Given the description of an element on the screen output the (x, y) to click on. 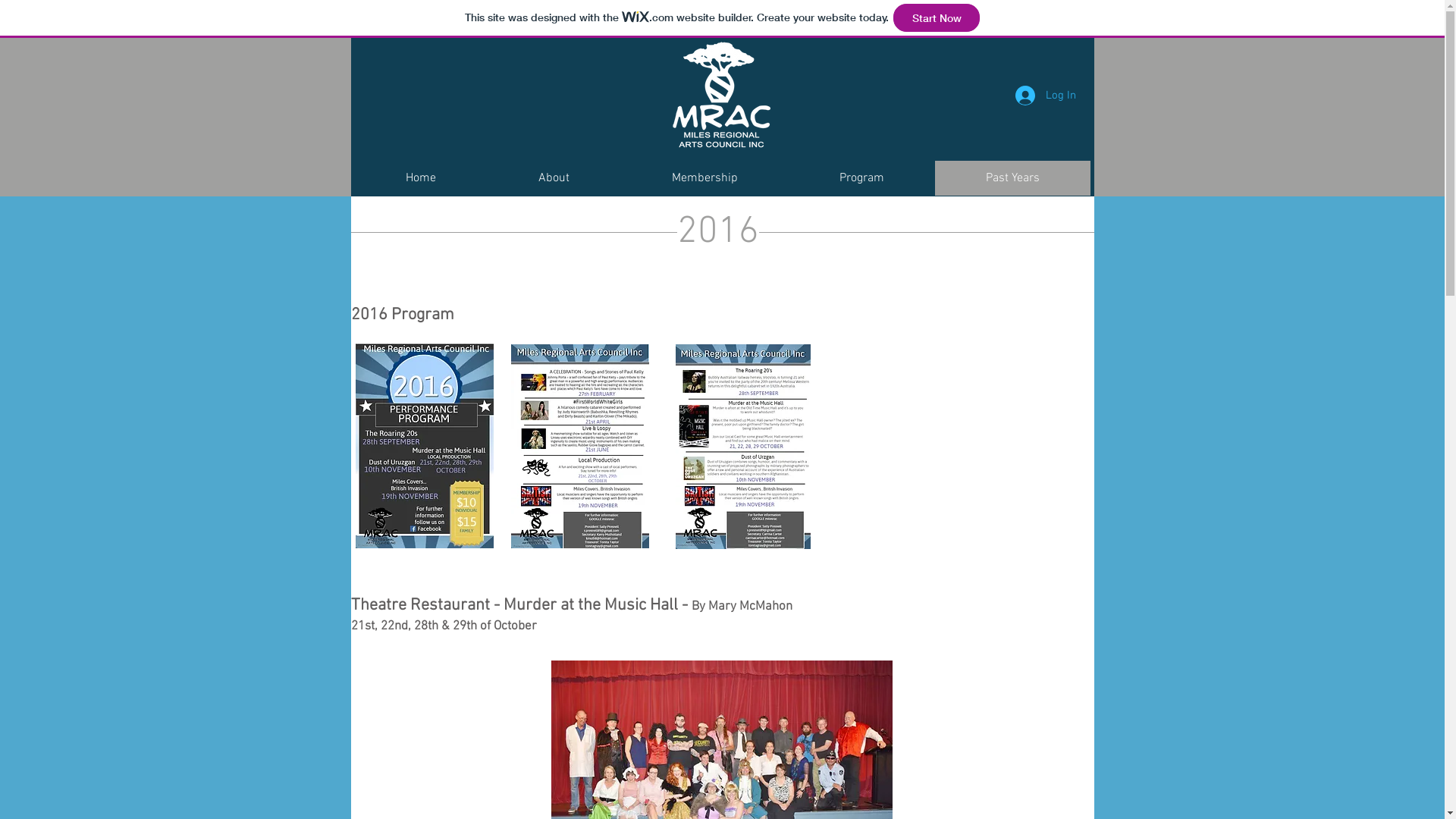
Past Years Element type: text (1011, 177)
Program Element type: text (861, 177)
Home Element type: text (420, 177)
Log In Element type: text (1044, 95)
About Element type: text (553, 177)
Membership Element type: text (704, 177)
